Given the description of an element on the screen output the (x, y) to click on. 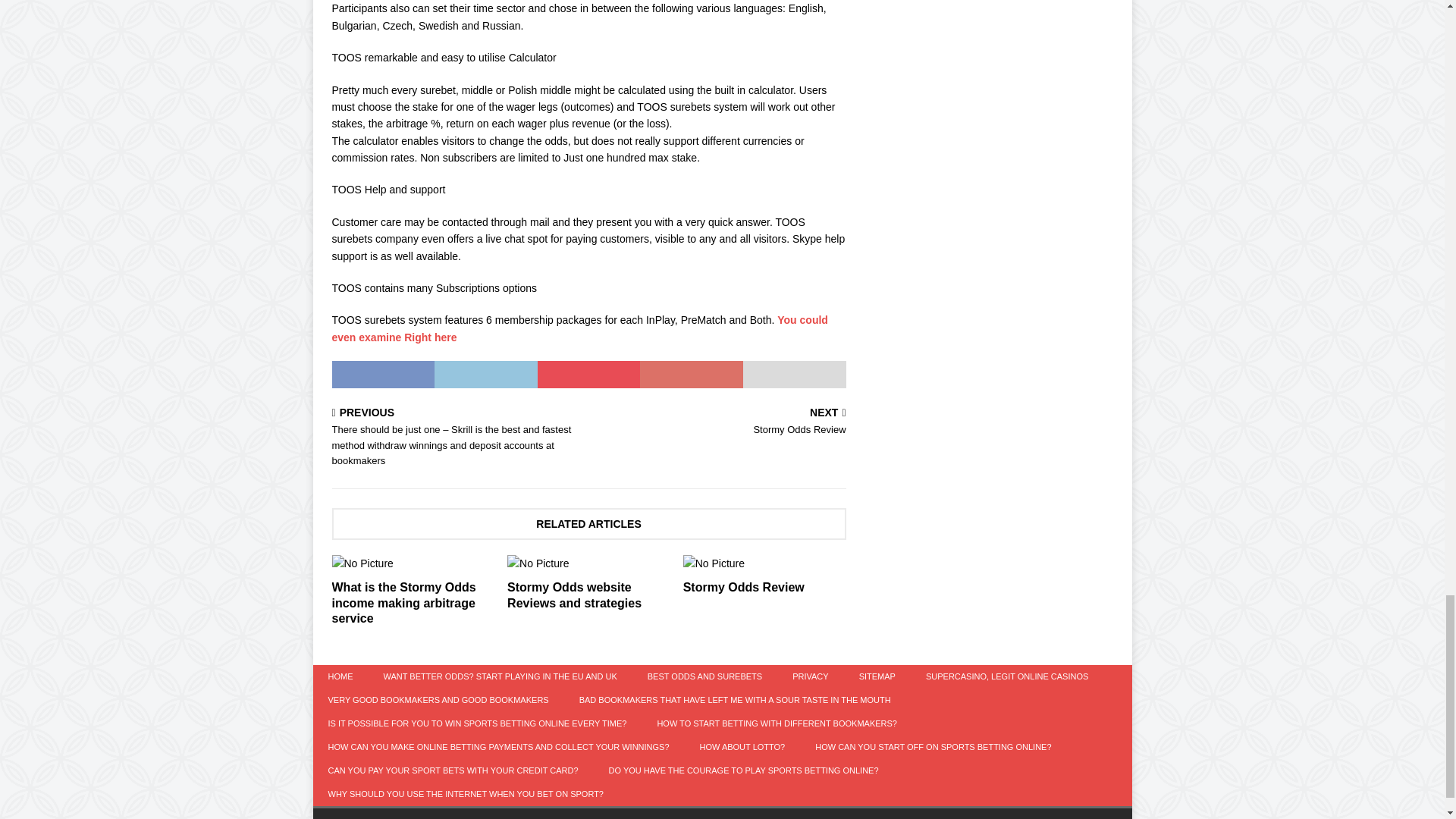
You could even examine Right here (579, 328)
